Given the description of an element on the screen output the (x, y) to click on. 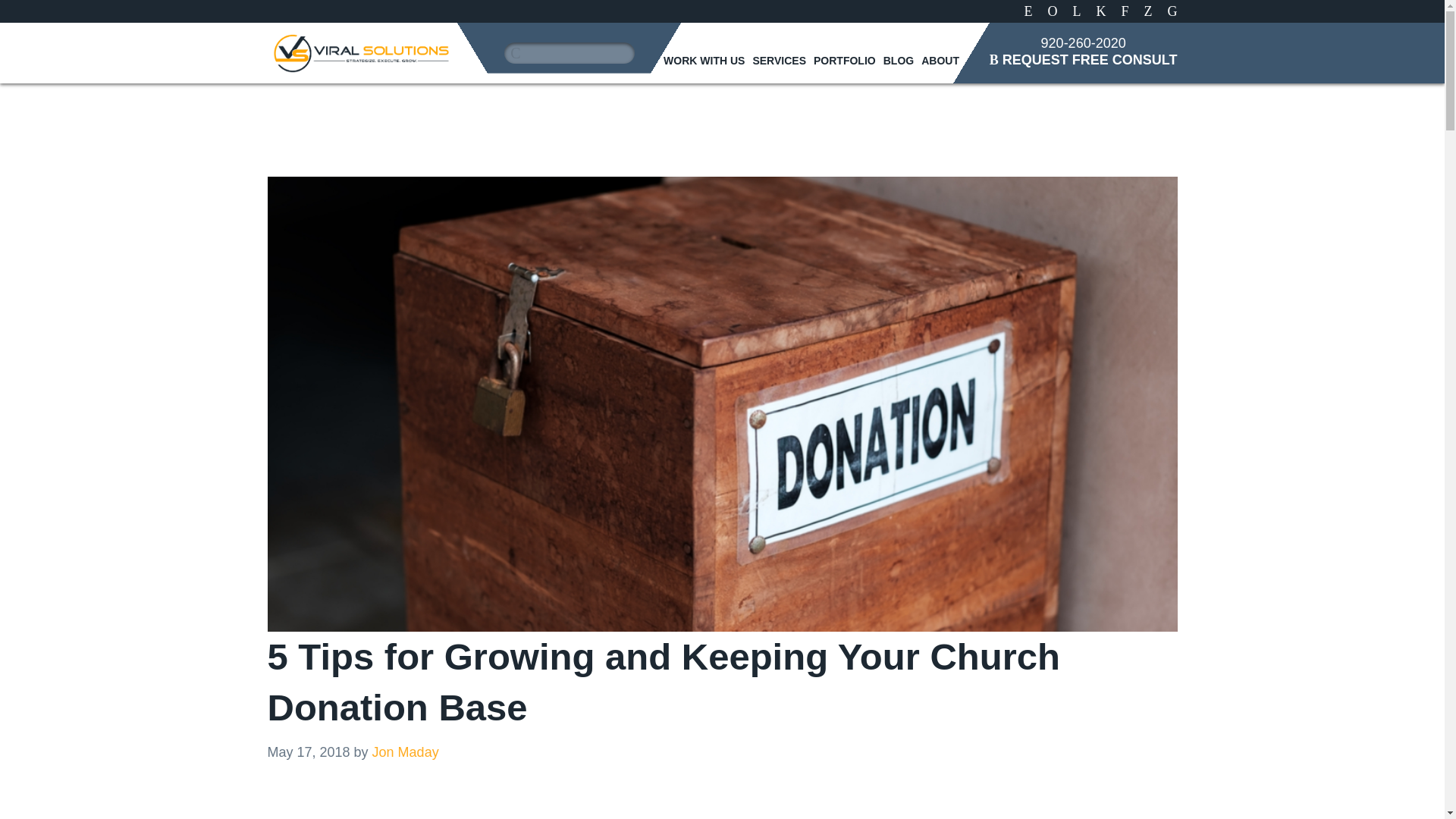
SERVICES (779, 60)
ABOUT (940, 60)
WORK WITH US (703, 60)
PORTFOLIO (844, 60)
Services (779, 60)
Jon Maday (405, 752)
920-260-2020 (1083, 42)
REQUEST FREE CONSULT (1083, 59)
WORK WITH US (703, 60)
BLOG (898, 60)
